Given the description of an element on the screen output the (x, y) to click on. 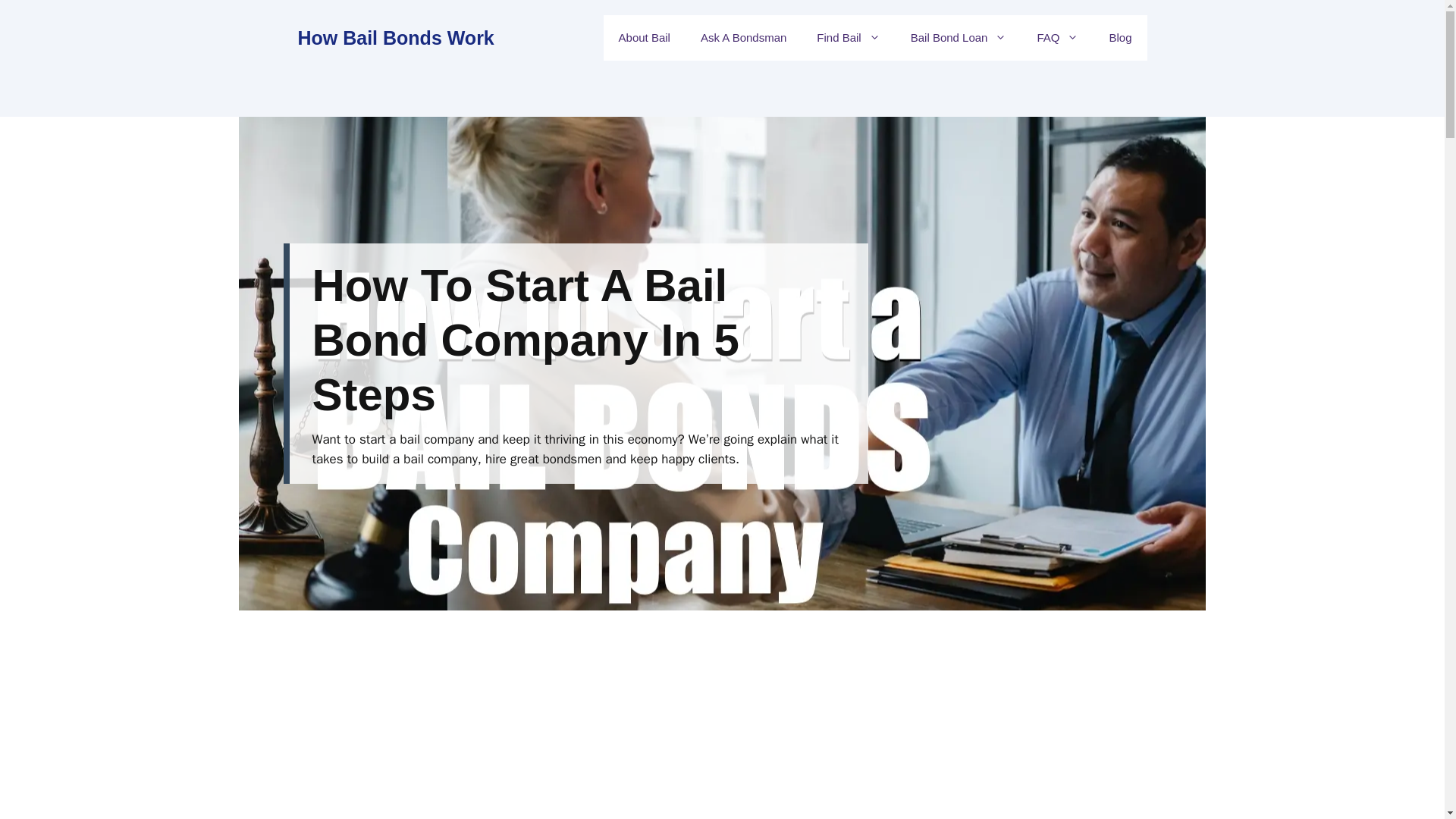
How Bail Bonds Work (395, 37)
Find Bail (848, 37)
About Bail Bonds (644, 37)
Ask A Bondsman (743, 37)
Find Local Bail (848, 37)
About Bail (644, 37)
Ask A Bondsman (743, 37)
